Given the description of an element on the screen output the (x, y) to click on. 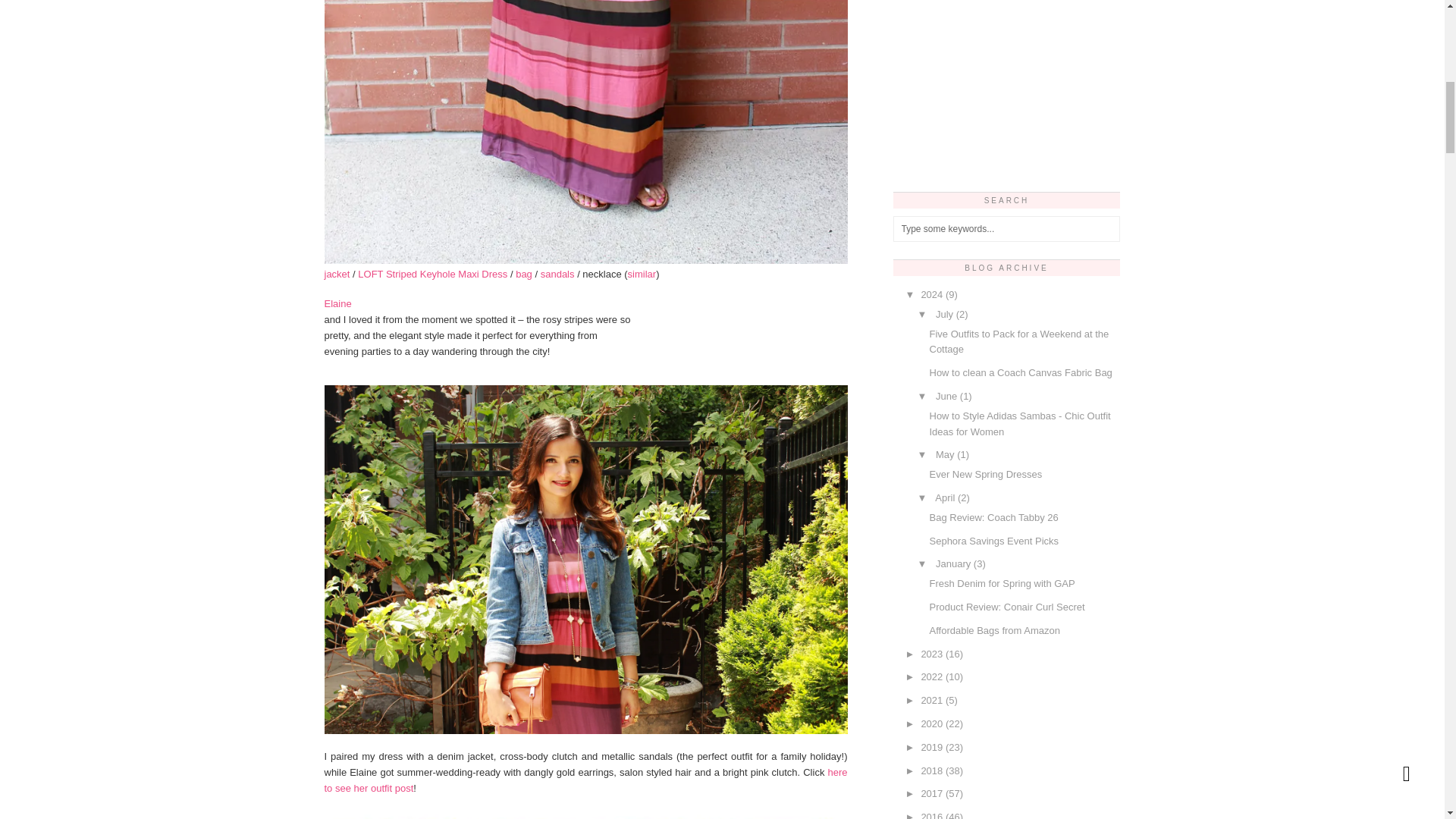
here to see her outfit post (585, 779)
similar (641, 274)
LOFT Striped Keyhole Maxi Dress (585, 812)
sandals (557, 274)
bag (523, 274)
LOFT Striped Keyhole Maxi Dress (432, 274)
Elaine (338, 303)
jacket (337, 274)
